Given the description of an element on the screen output the (x, y) to click on. 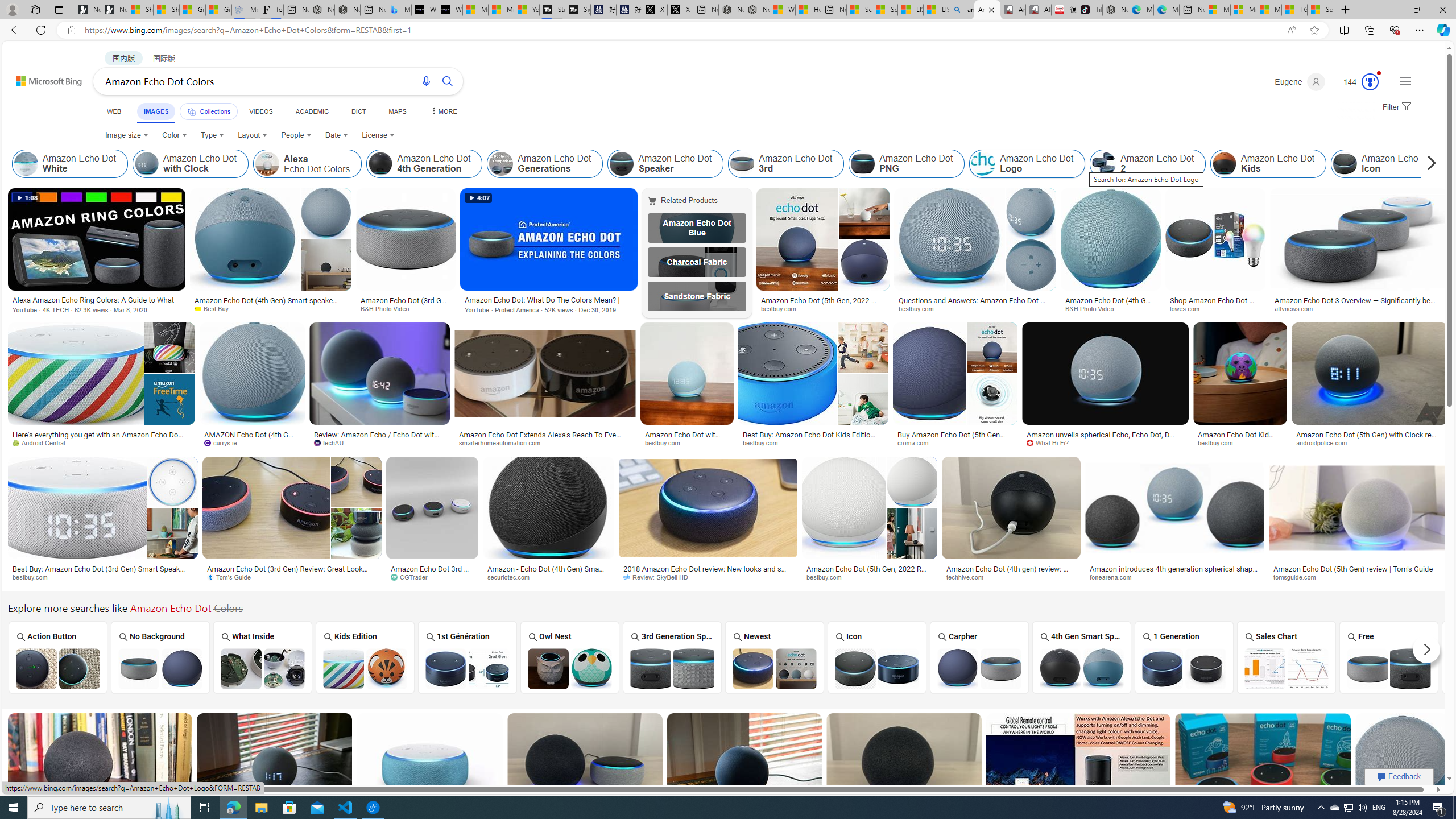
Amazon Echo Dot 4th Gen Smart Speaker with Alexa (1080, 668)
4:07 (478, 197)
tomsguide.com (1358, 576)
Android Central (101, 442)
Kids Edition (364, 656)
Amazon Echo Dot Owl and Nest (569, 668)
Nordace - Best Sellers (1114, 9)
Amazon Echo Dot Kids Edition Kids Edition (364, 656)
Amazon Echo Dot Blue (696, 227)
amazon - Search (961, 9)
